Given the description of an element on the screen output the (x, y) to click on. 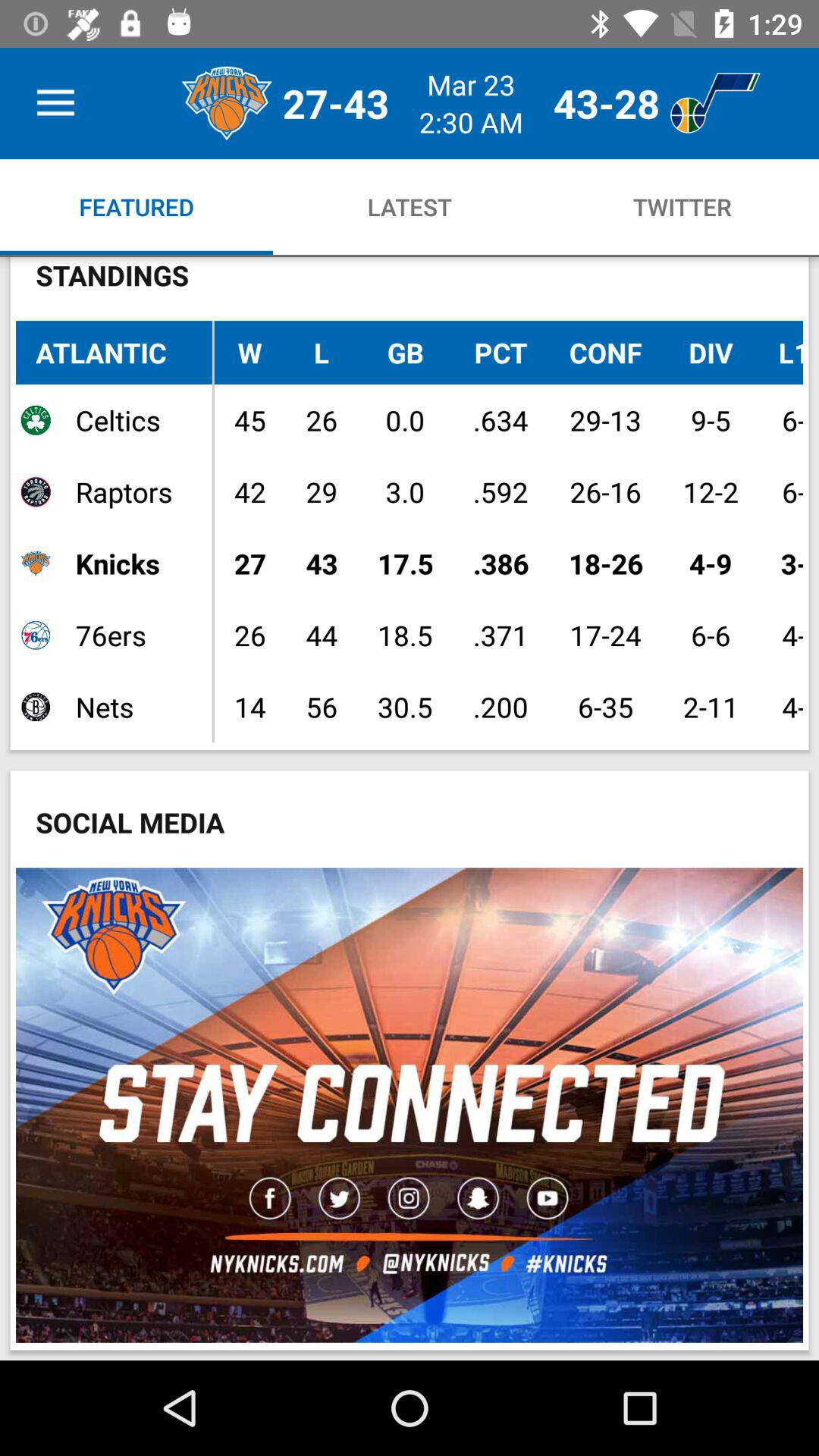
select twitter option (682, 206)
